Given the description of an element on the screen output the (x, y) to click on. 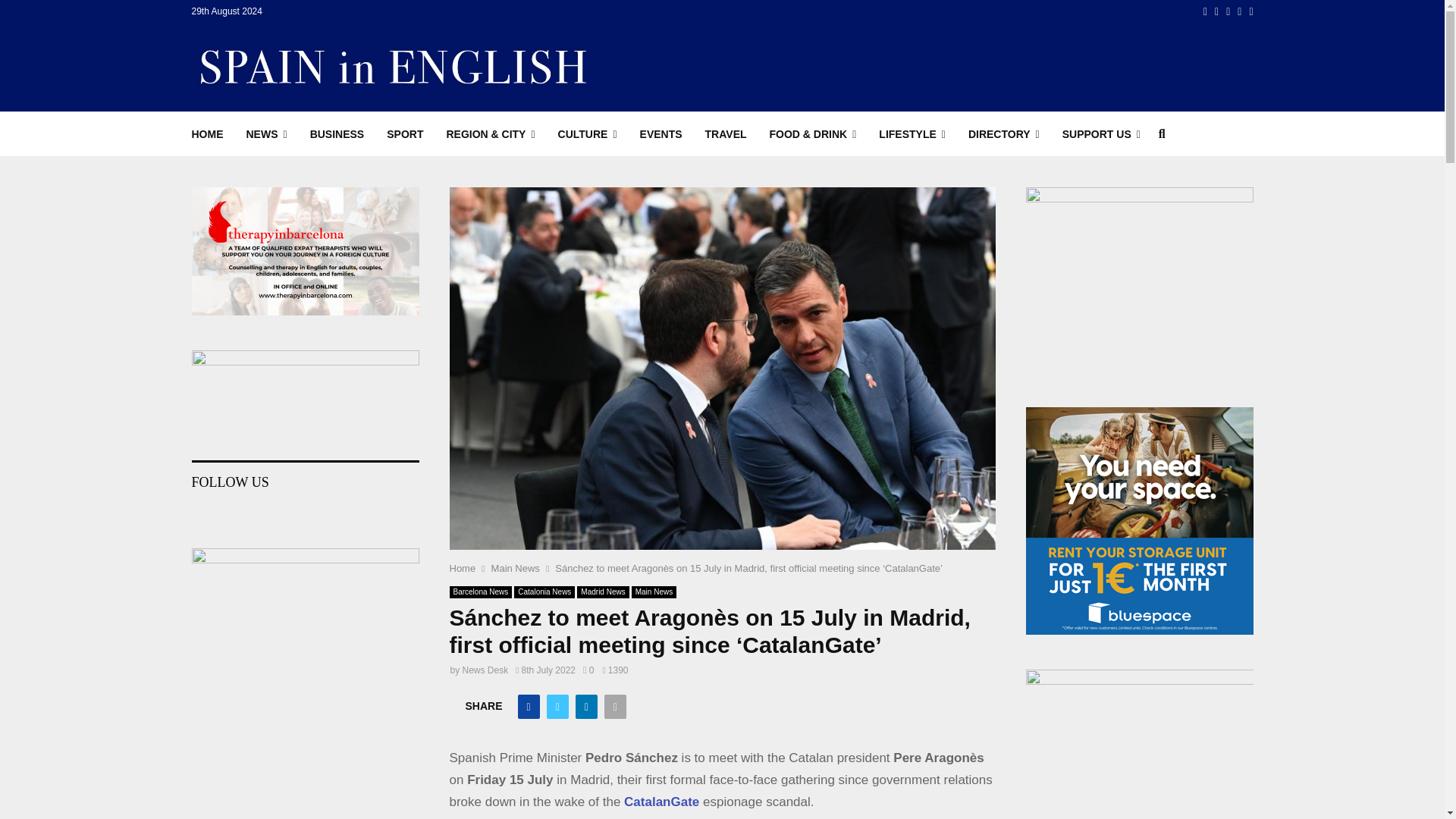
NEWS (266, 134)
BUSINESS (337, 134)
EVENTS (661, 134)
LIFESTYLE (911, 134)
Login to your account (722, 293)
TRAVEL (725, 134)
CULTURE (587, 134)
Sign up new account (722, 415)
